Given the description of an element on the screen output the (x, y) to click on. 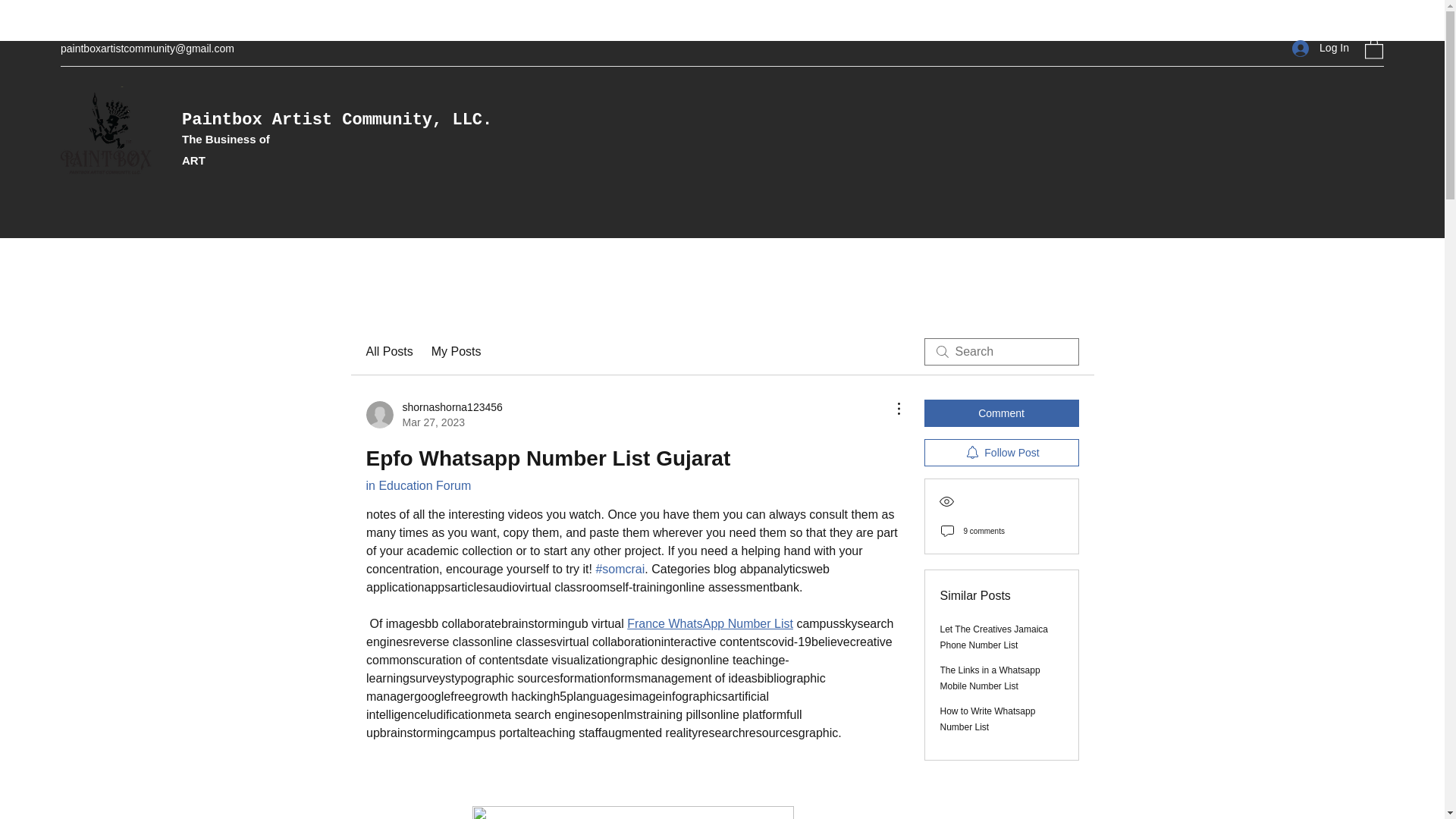
Log In (433, 414)
France WhatsApp Number List (1320, 48)
My Posts (710, 623)
in Education Forum (455, 352)
Paintbox Artist Community, LLC. (417, 485)
All Posts (337, 119)
